Given the description of an element on the screen output the (x, y) to click on. 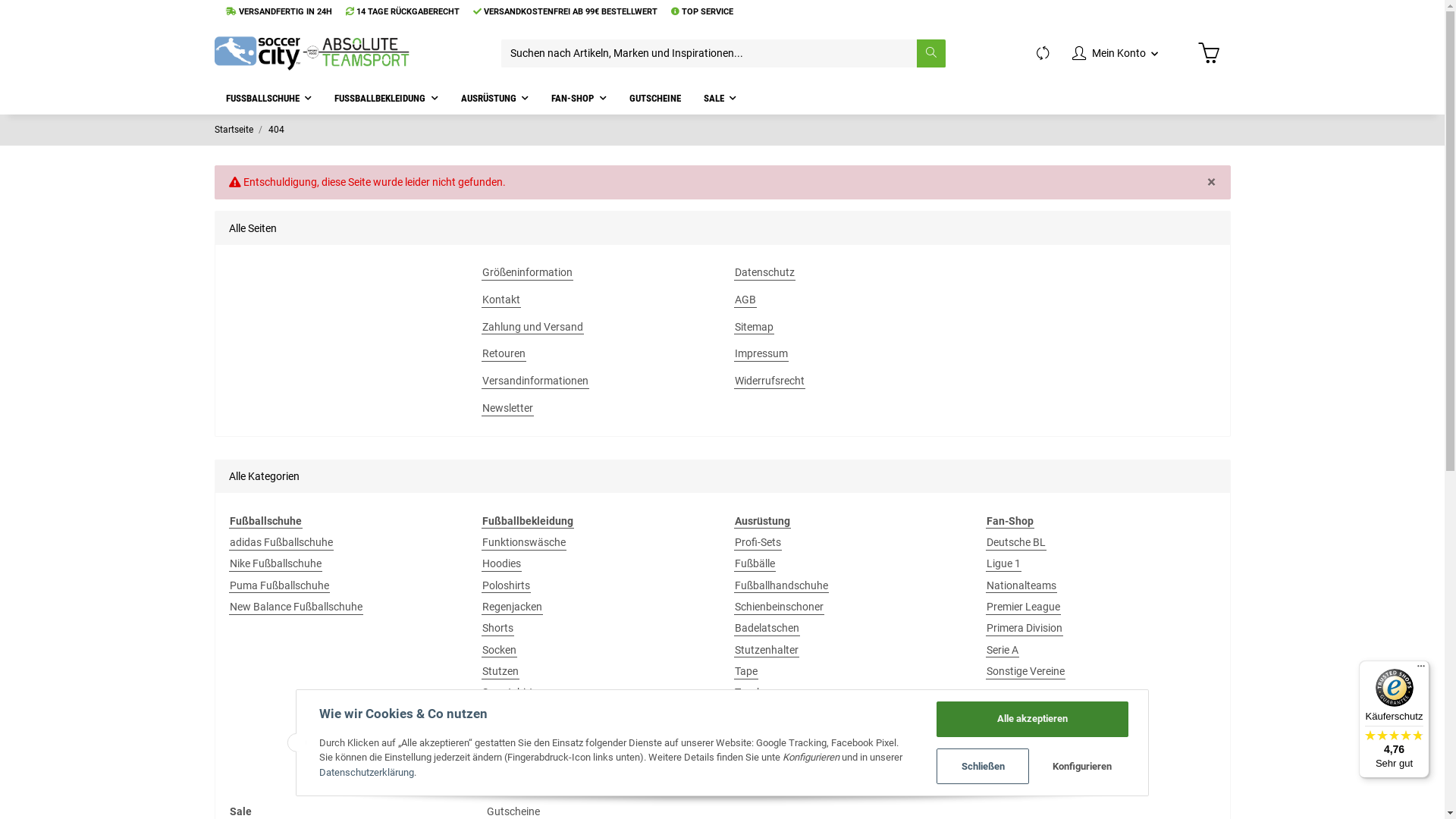
Fan-Shop Element type: text (1009, 521)
Shorts Element type: text (497, 628)
Poloshirts Element type: text (505, 585)
Sweatshirt Element type: text (507, 692)
Primera Division Element type: text (1024, 628)
404 Element type: text (276, 129)
Vergleichsliste Element type: hover (1042, 53)
Sitemap Element type: text (754, 327)
Trainingshosen Element type: text (518, 778)
Datenschutz Element type: text (764, 272)
Deutsche BL Element type: text (1015, 542)
Retouren Element type: text (503, 353)
Torwarthandschuhe Element type: text (782, 713)
Konfigurieren Element type: text (1081, 766)
Alle akzeptieren Element type: text (1032, 719)
Mein Konto Element type: text (1114, 53)
Taschen Element type: text (754, 692)
Serie A Element type: text (1002, 650)
FUSSBALLSCHUHE Element type: text (268, 98)
Socken Element type: text (499, 650)
Schienbeinschoner Element type: text (779, 607)
Premier League Element type: text (1022, 607)
Hoodies Element type: text (501, 563)
soccercity Element type: hover (312, 53)
Widerrufsrecht Element type: text (769, 381)
SALE Element type: text (719, 98)
GUTSCHEINE Element type: text (654, 98)
Profi-Sets Element type: text (757, 542)
Teamsport Element type: text (507, 735)
Impressum Element type: text (761, 353)
Newsletter Element type: text (507, 408)
FUSSBALLBEKLEIDUNG Element type: text (386, 98)
Zahlung und Versand Element type: text (532, 327)
Ligue 1 Element type: text (1003, 563)
Badelatschen Element type: text (767, 628)
AGB Element type: text (745, 299)
Startseite Element type: text (232, 129)
Regenjacken Element type: text (511, 607)
T-Shirts Element type: text (499, 713)
Kontakt Element type: text (500, 299)
Nationalteams Element type: text (1021, 585)
Stutzenhalter Element type: text (766, 650)
FAN-SHOP Element type: text (578, 98)
Sonstige Vereine Element type: text (1025, 671)
Versandinformationen Element type: text (535, 381)
Stutzen Element type: text (500, 671)
Tape Element type: text (746, 671)
